Given the description of an element on the screen output the (x, y) to click on. 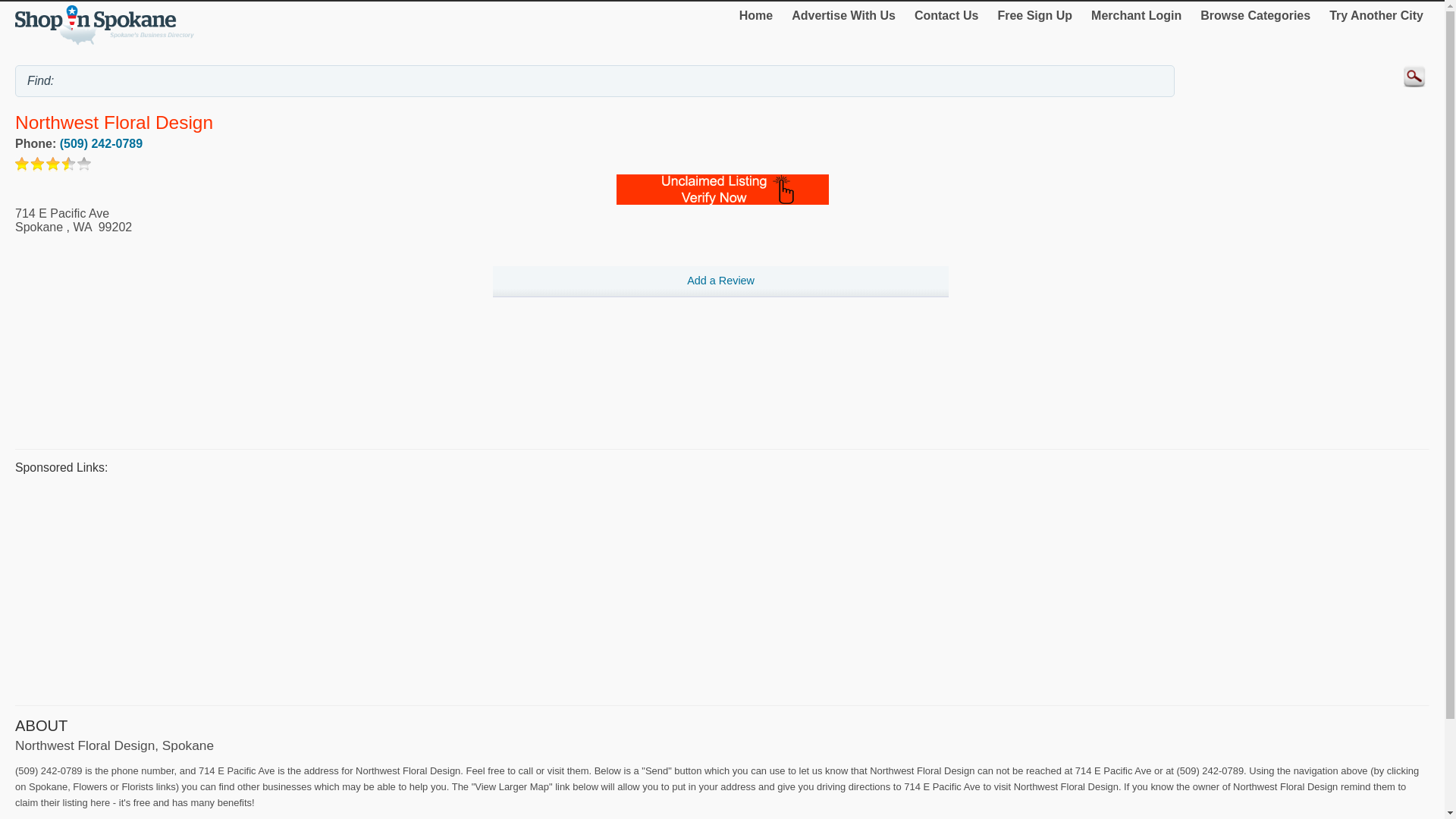
Find:  (594, 81)
Try Another City (1376, 15)
Merchant Login (1136, 15)
Free Sign Up (1034, 15)
Add a Review (721, 281)
Advertise With Us (843, 15)
Find:  (594, 81)
Browse Categories (1254, 15)
Contact Us (946, 15)
Home (755, 15)
